Given the description of an element on the screen output the (x, y) to click on. 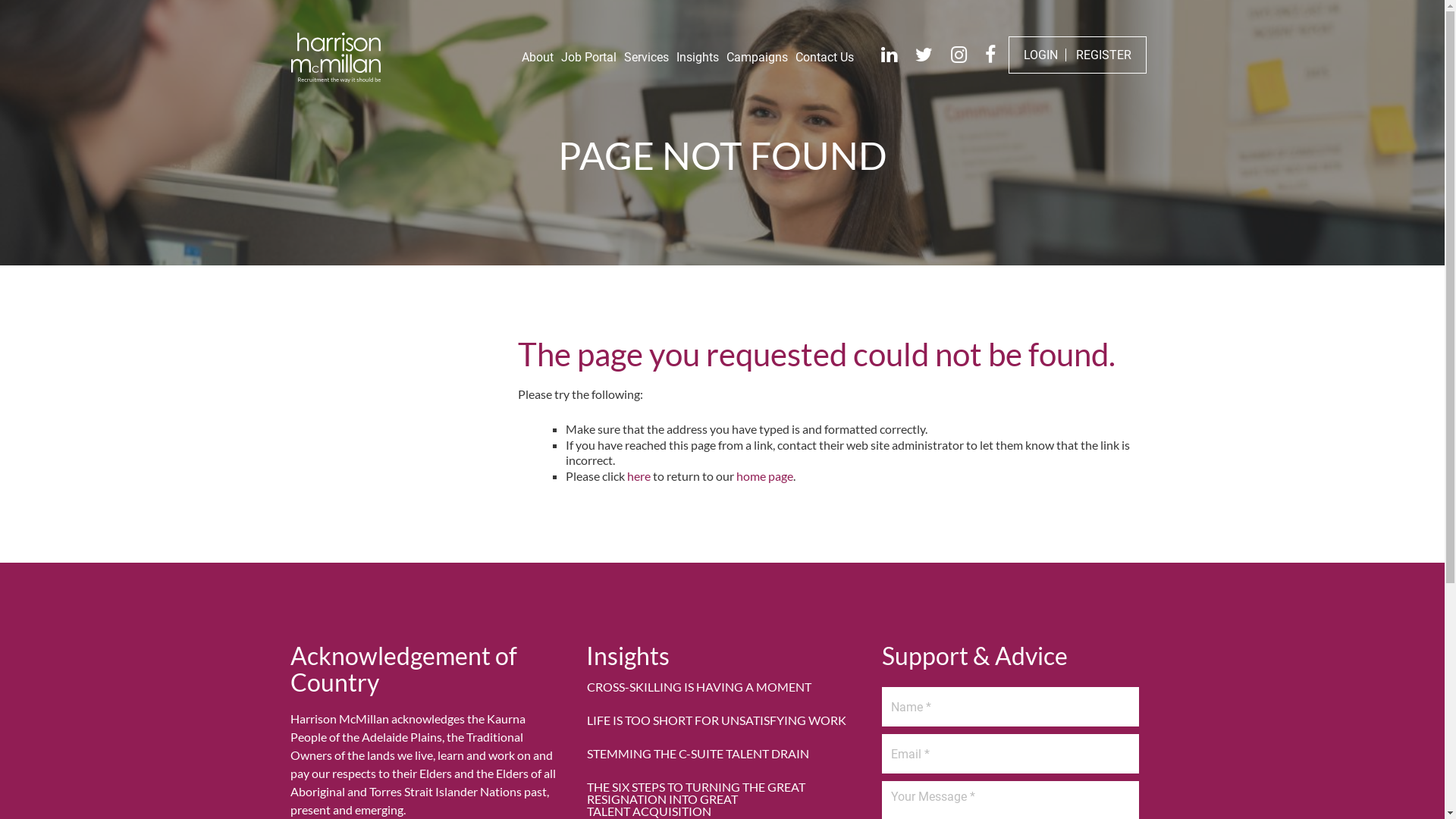
Insights Element type: text (697, 60)
REGISTER Element type: text (1102, 54)
About Element type: text (537, 60)
STEMMING THE C-SUITE TALENT DRAIN Element type: text (722, 753)
LOGIN Element type: text (1040, 54)
home page Element type: text (763, 475)
LIFE IS TOO SHORT FOR UNSATISFYING WORK Element type: text (722, 720)
CROSS-SKILLING IS HAVING A MOMENT Element type: text (722, 686)
here Element type: text (637, 475)
Job Portal Element type: text (588, 60)
Linkedin Element type: hover (889, 54)
Instagram Element type: hover (958, 54)
Services Element type: text (645, 60)
Drover ag Element type: hover (335, 57)
Campaigns Element type: text (756, 60)
Twitter Element type: hover (922, 54)
Contact Us Element type: text (823, 60)
